Given the description of an element on the screen output the (x, y) to click on. 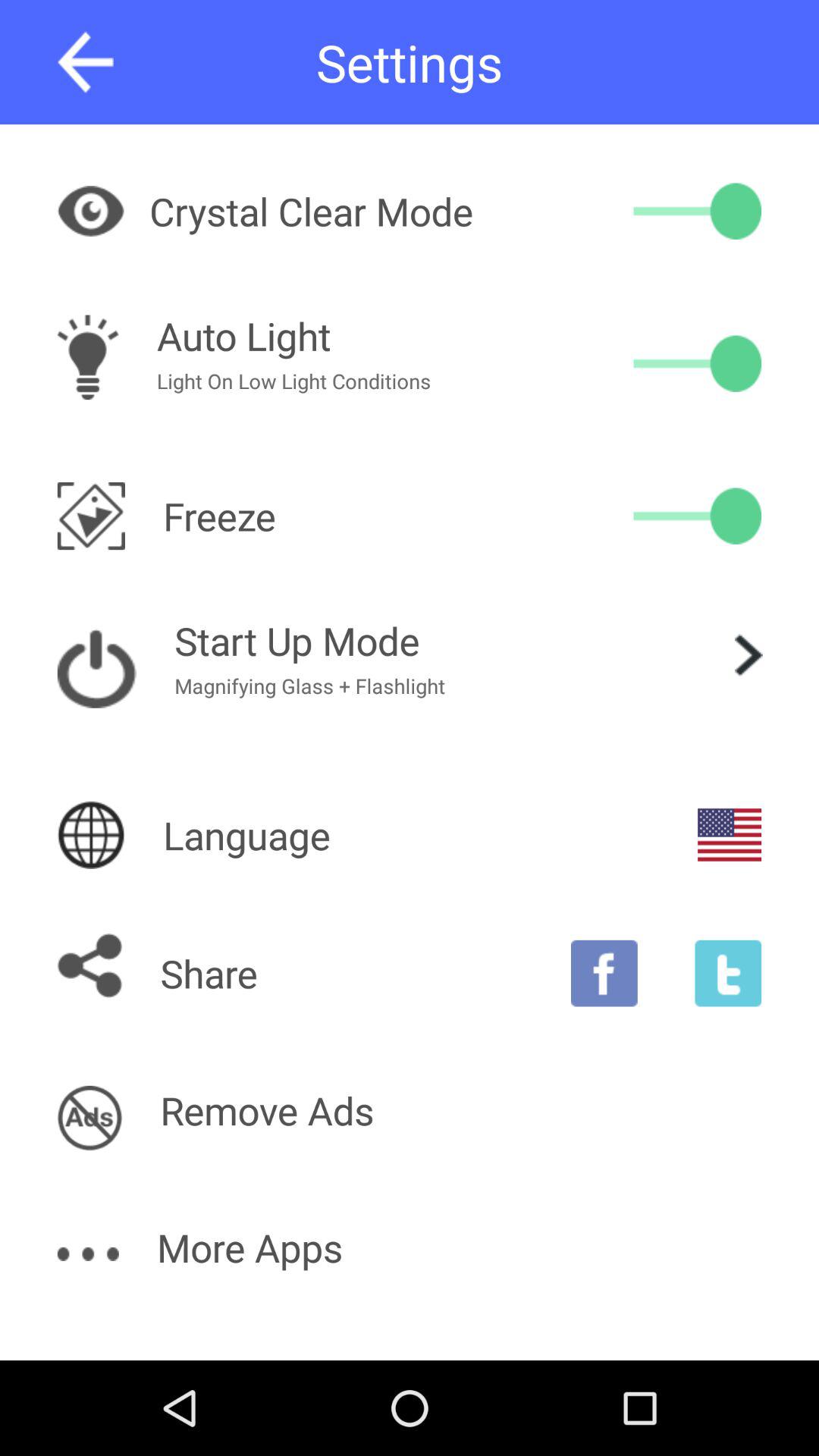
toggle auto light option (697, 363)
